Given the description of an element on the screen output the (x, y) to click on. 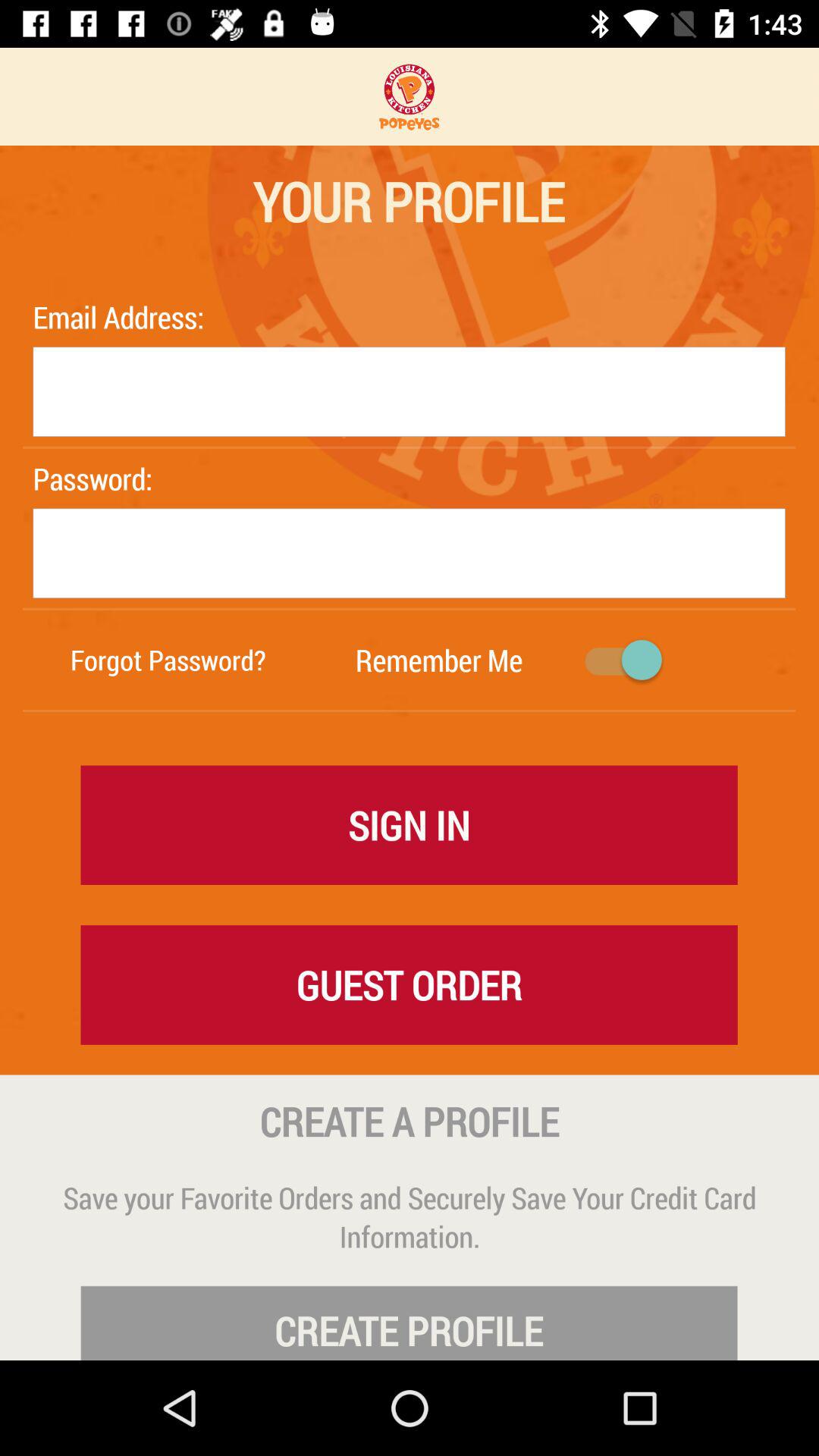
turn on item next to the forgot password? icon (438, 659)
